Given the description of an element on the screen output the (x, y) to click on. 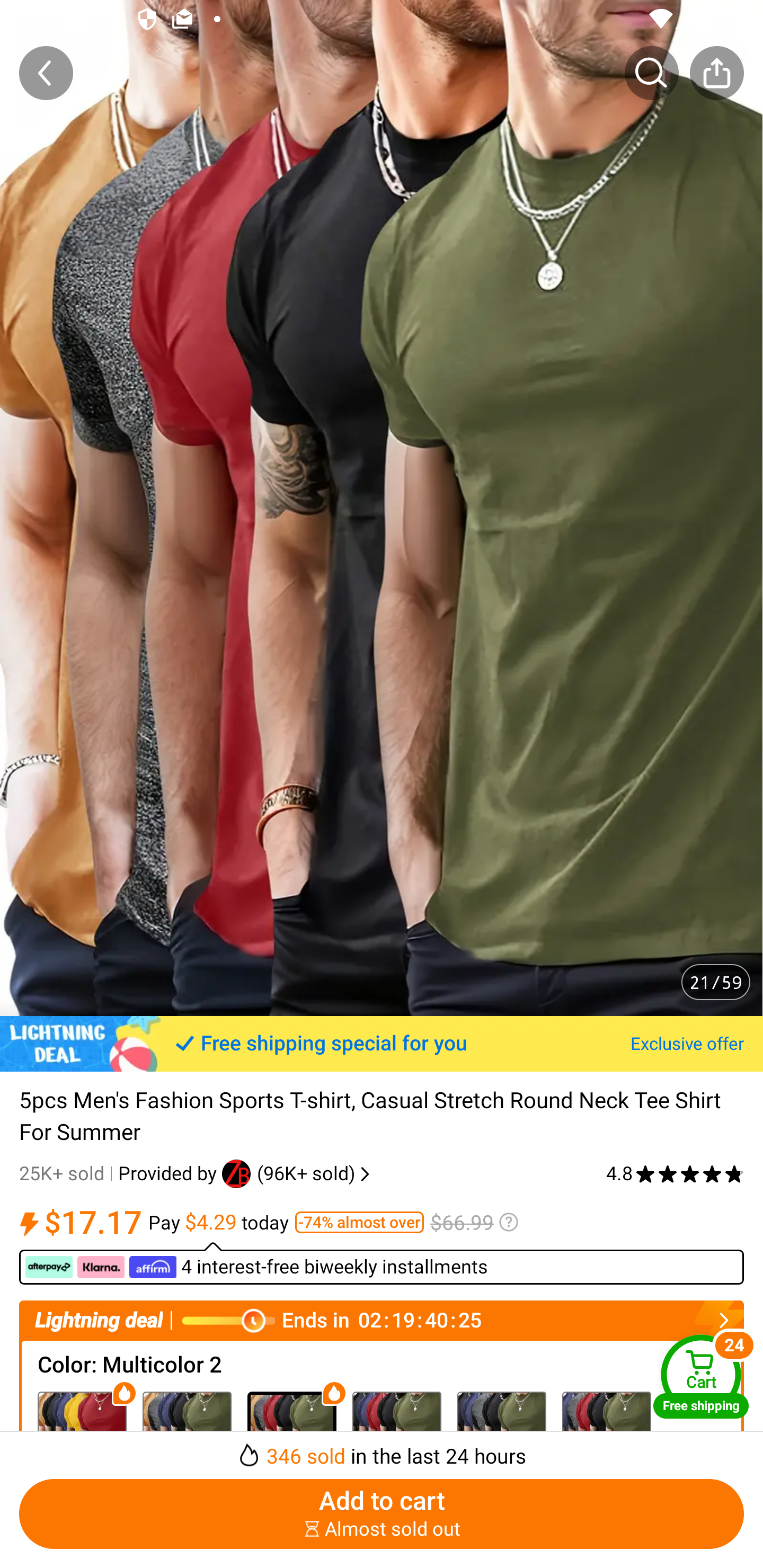
Back (46, 72)
Share (716, 72)
Free shipping special for you Exclusive offer (381, 1043)
25K+ sold Provided by  (120, 1174)
4.8 (674, 1174)
￼ ￼ ￼ 4 interest-free biweekly installments (381, 1262)
Lightning deal Ends in￼￼ (381, 1319)
Cart Free shipping Cart (701, 1375)
￼￼346 sold in the last 24 hours (381, 1450)
Add to cart ￼￼Almost sold out (381, 1513)
